Given the description of an element on the screen output the (x, y) to click on. 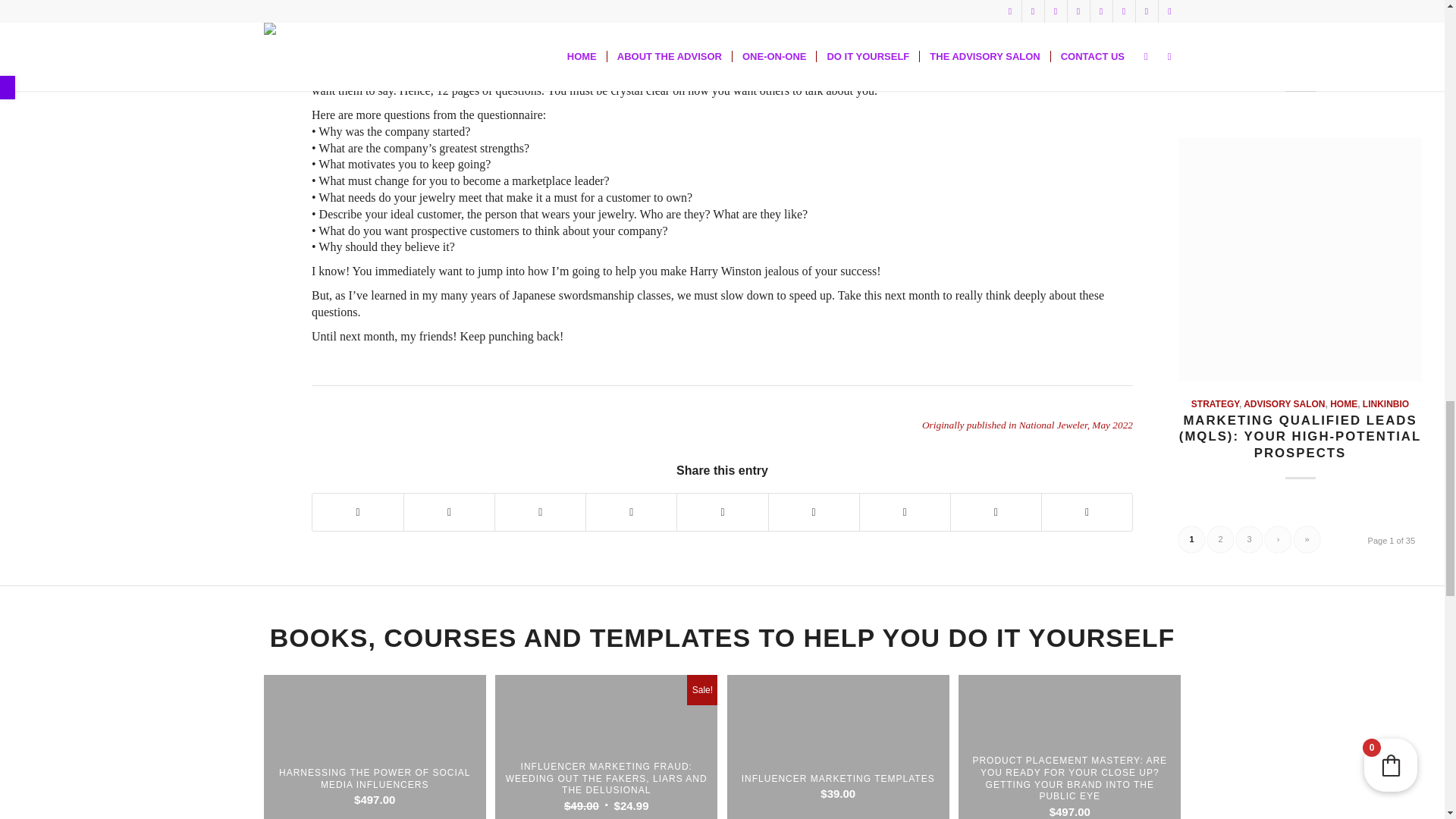
Originally published in National Jeweler, May 2022 (1026, 424)
